Given the description of an element on the screen output the (x, y) to click on. 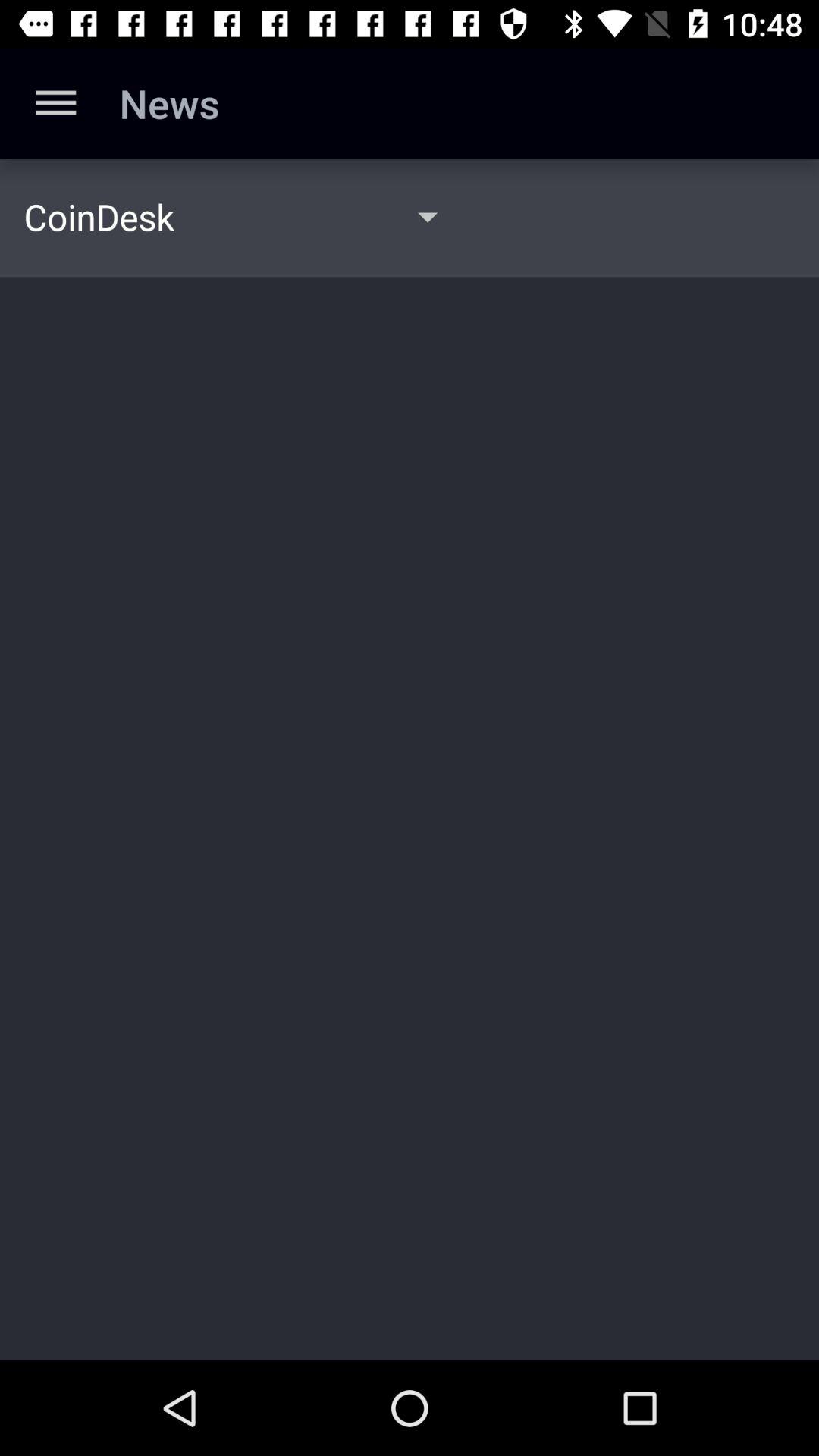
scroll until coindesk icon (98, 216)
